Given the description of an element on the screen output the (x, y) to click on. 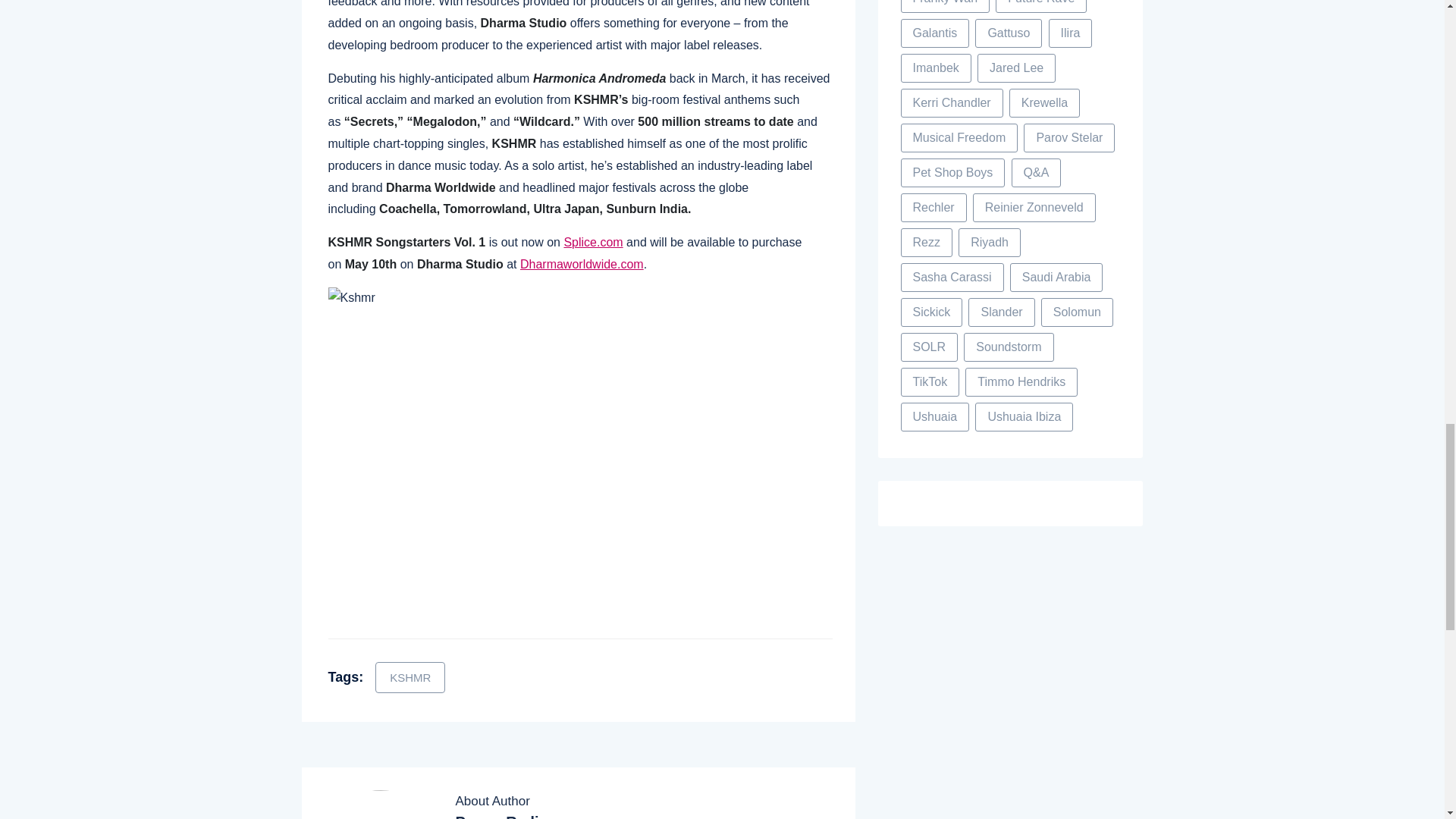
Splice.com (593, 242)
Dharmaworldwide.com (581, 264)
KSHMR (410, 676)
